Given the description of an element on the screen output the (x, y) to click on. 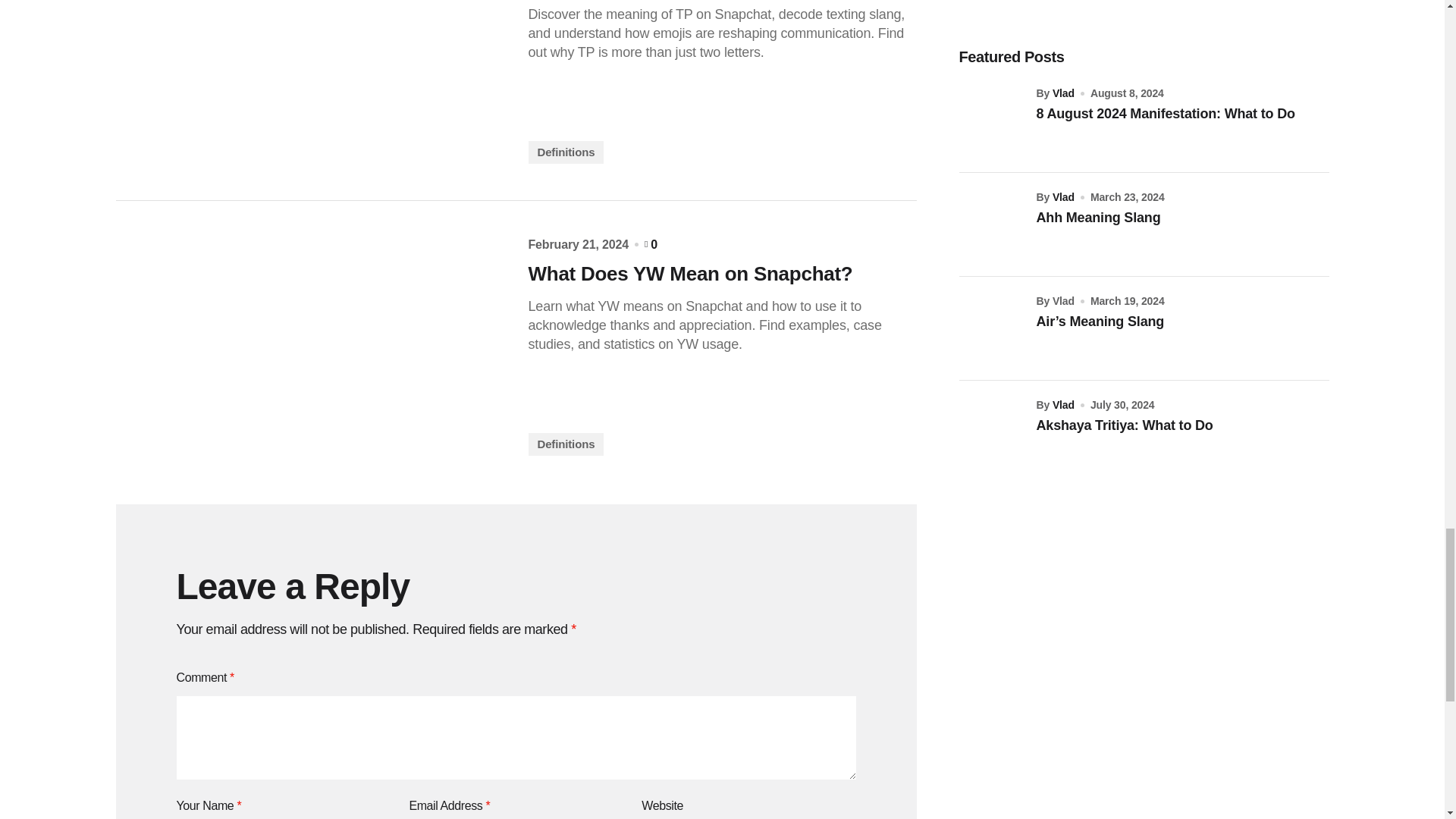
What Does YW Mean on Snapchat? (309, 346)
What Does TP Mean on Snapchat (309, 81)
0 (651, 244)
Definitions (565, 151)
Definitions (565, 444)
What Does YW Mean on Snapchat? (721, 273)
